Given the description of an element on the screen output the (x, y) to click on. 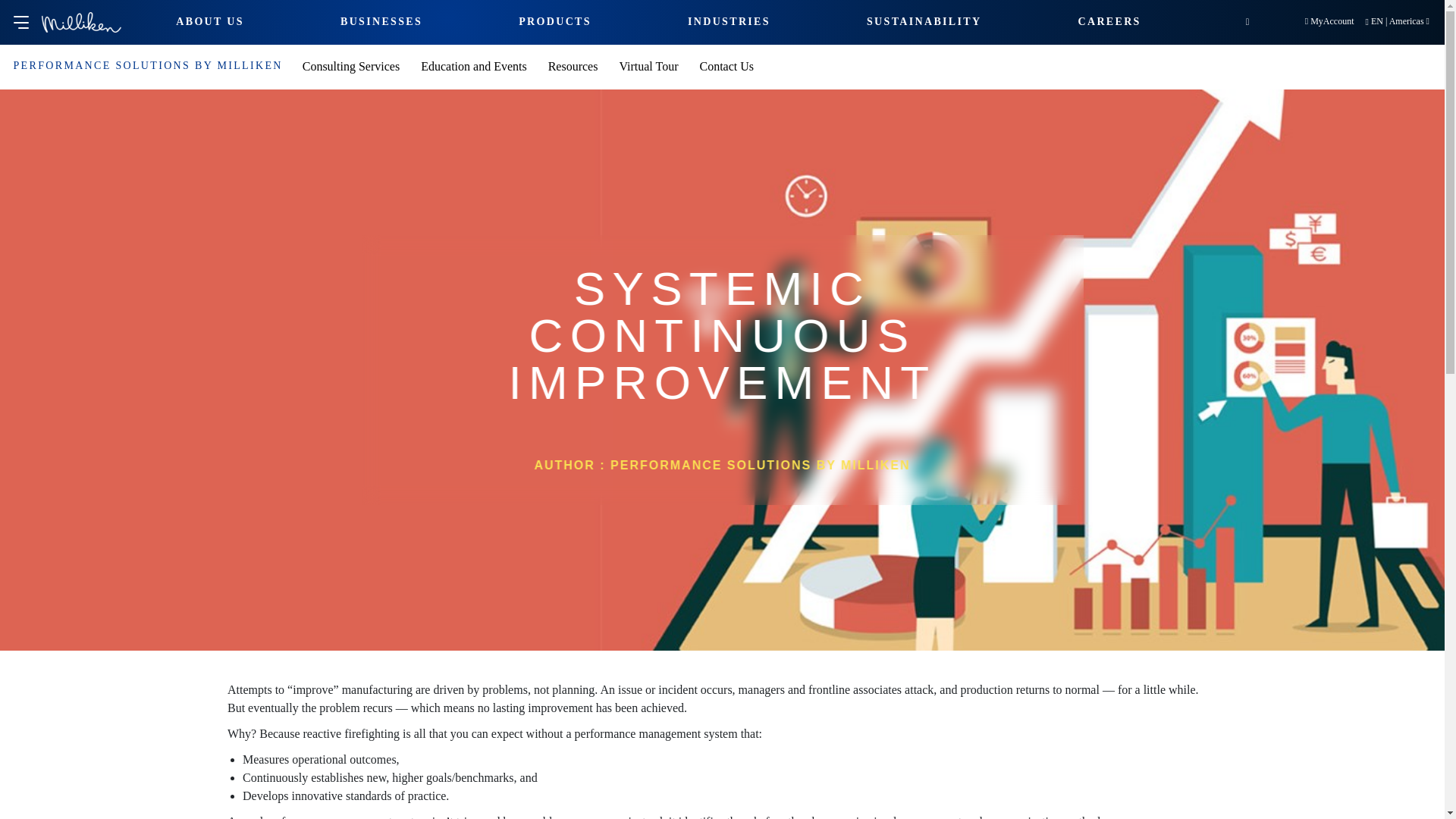
CAREERS (1109, 22)
SUSTAINABILITY (923, 22)
BUSINESSES (381, 22)
Education and Events (473, 65)
Resources (573, 65)
INDUSTRIES (728, 22)
PRODUCTS (554, 22)
MyAccount (1329, 20)
Contact Us (726, 65)
ABOUT US (210, 22)
